Given the description of an element on the screen output the (x, y) to click on. 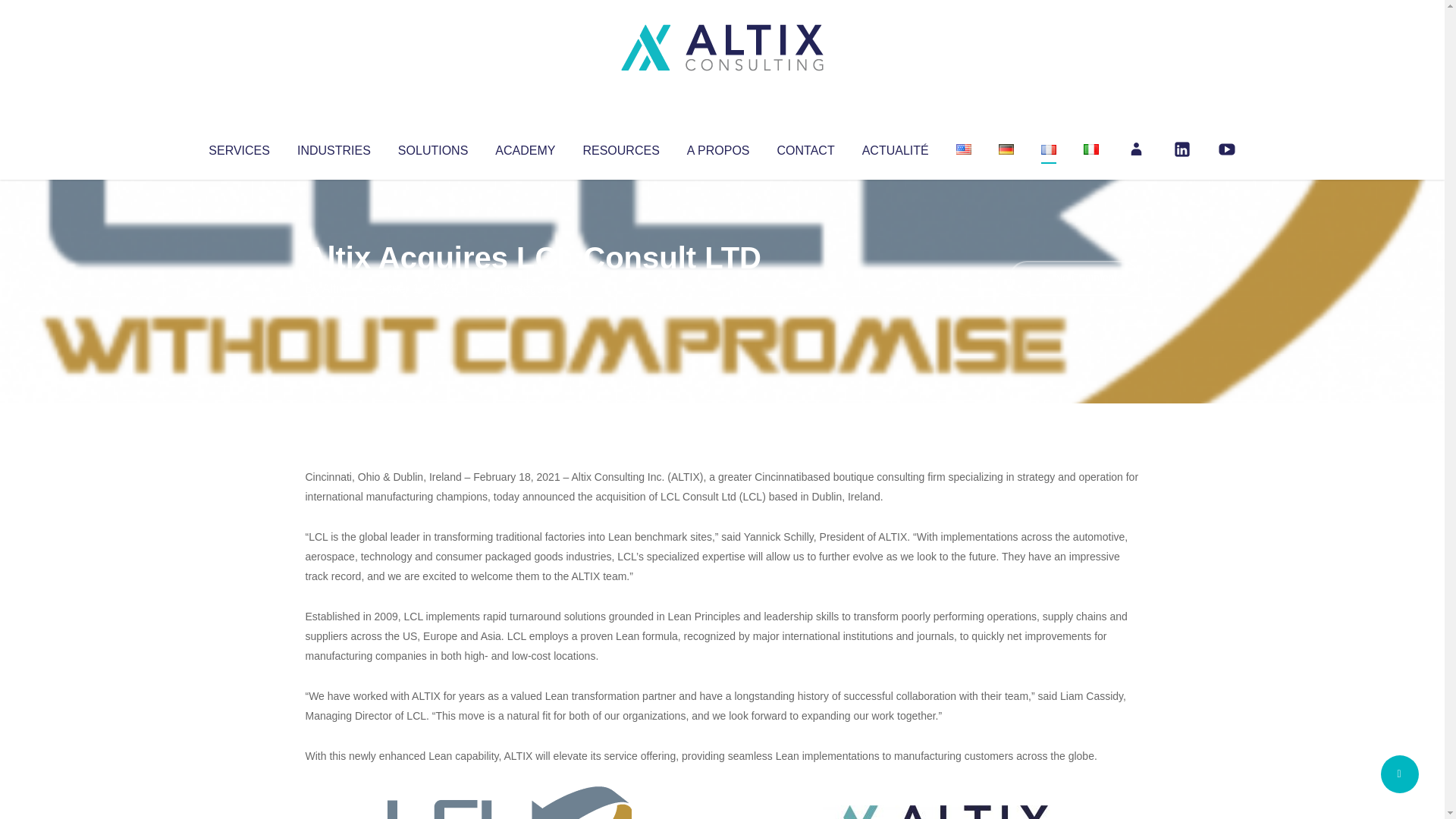
Articles par Altix (333, 287)
No Comments (1073, 278)
ACADEMY (524, 146)
INDUSTRIES (334, 146)
Uncategorized (530, 287)
RESOURCES (620, 146)
SERVICES (238, 146)
SOLUTIONS (432, 146)
Altix (333, 287)
A PROPOS (718, 146)
